Given the description of an element on the screen output the (x, y) to click on. 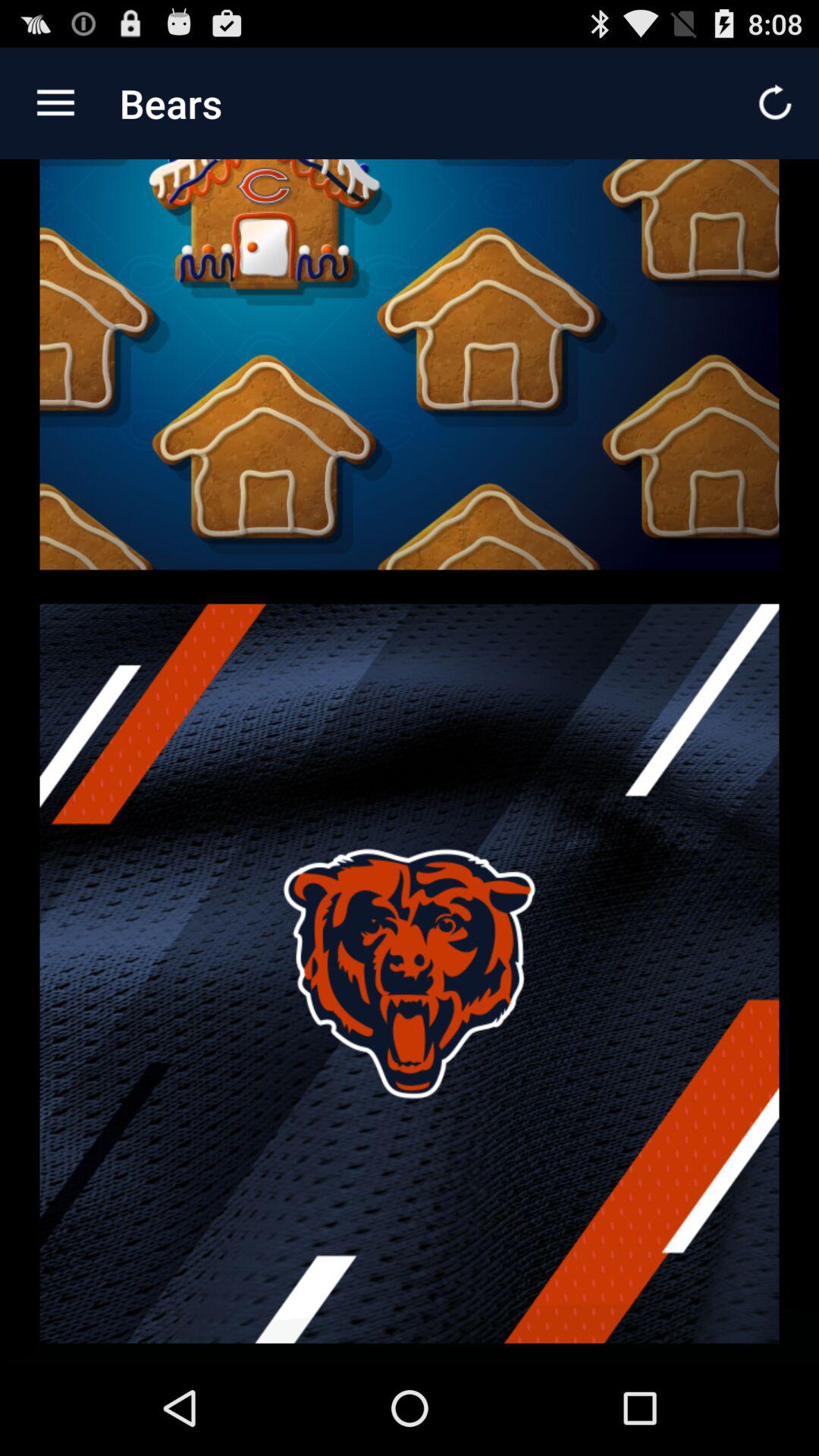
turn off icon at the top (409, 372)
